Given the description of an element on the screen output the (x, y) to click on. 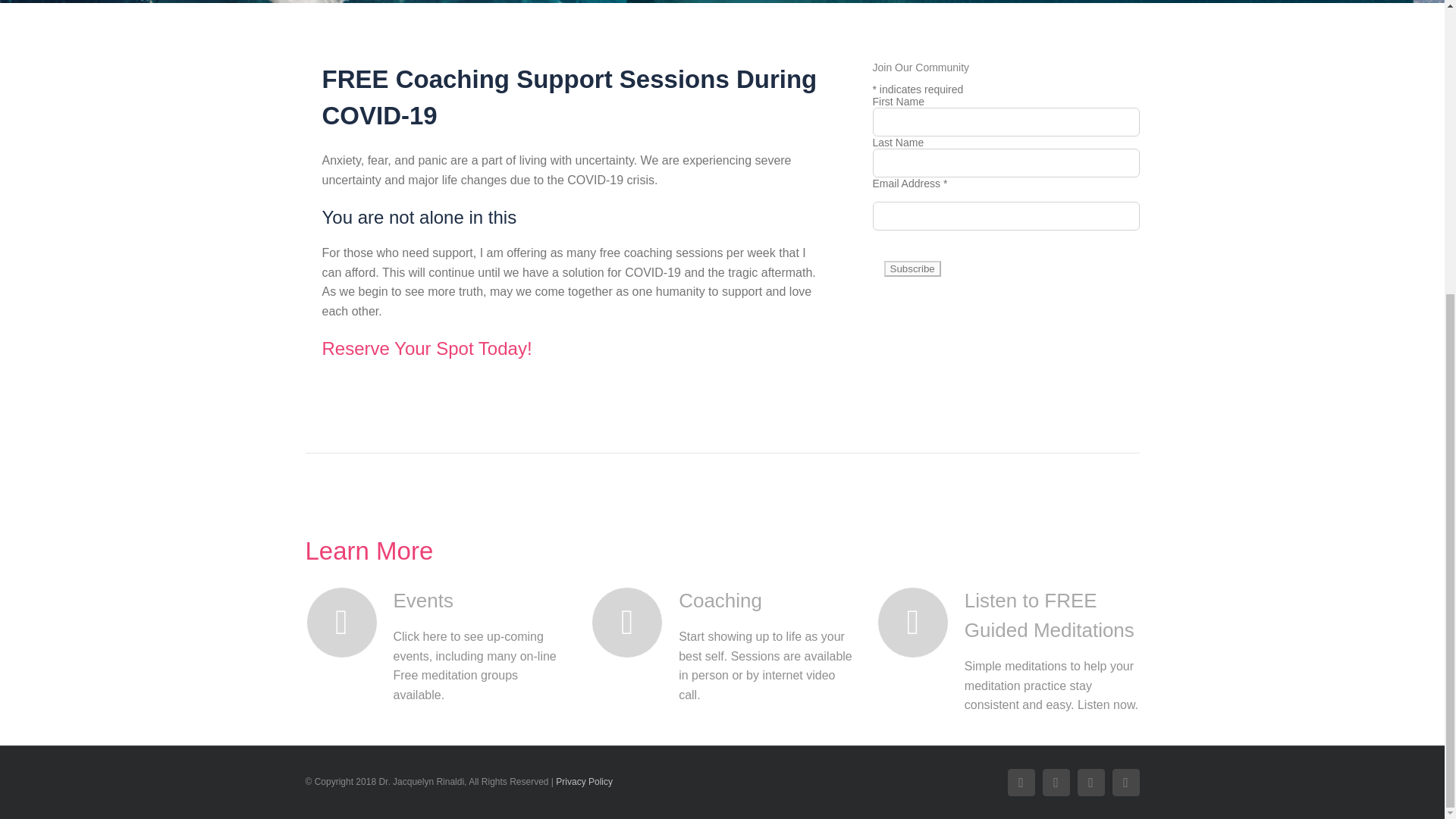
Subscribe (911, 268)
Coaching (676, 600)
Events (378, 600)
Subscribe (911, 268)
